Given the description of an element on the screen output the (x, y) to click on. 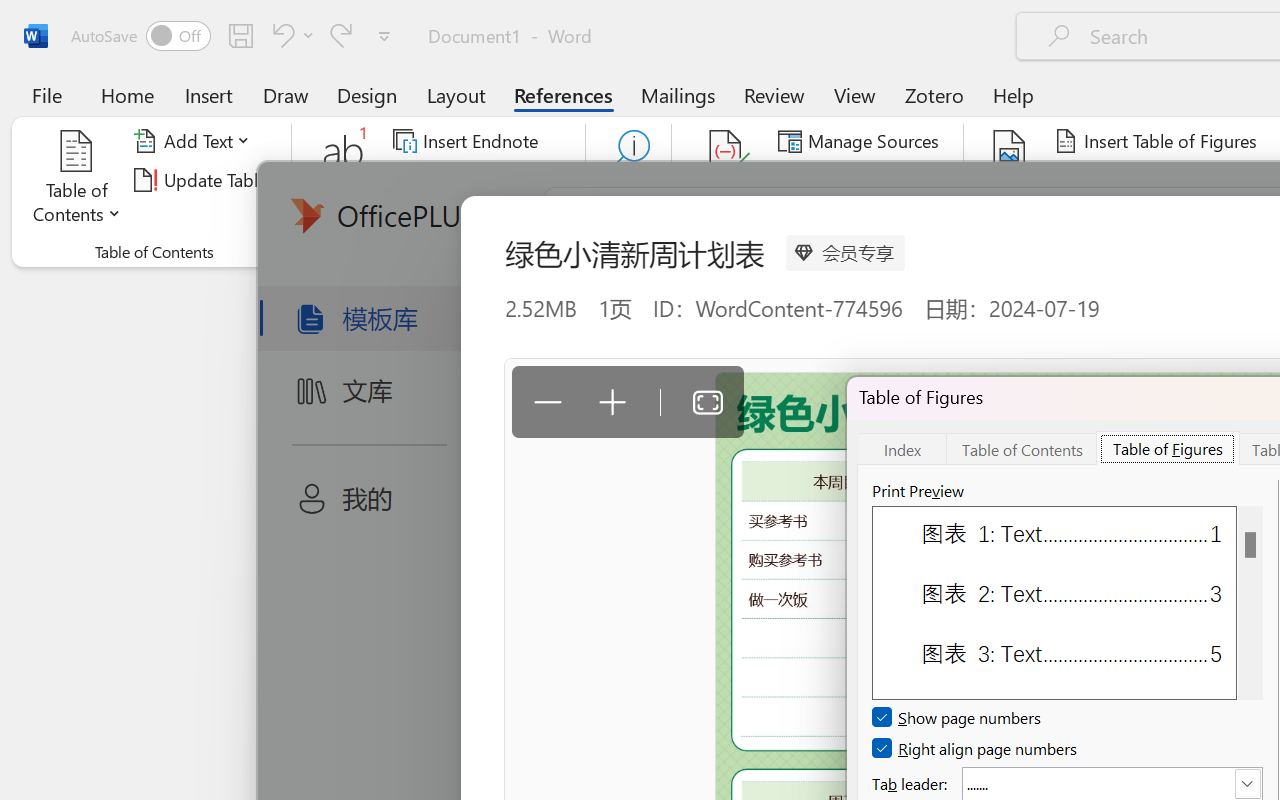
Add Text (195, 141)
Index (902, 447)
Insert Footnote (344, 179)
Insert Table of Figures... (1158, 141)
Undo Apply Quick Style Set (280, 35)
Show page numbers (957, 717)
AutomationID: 44 (1249, 602)
Insert Caption... (1009, 180)
Insert Citation (726, 179)
